Given the description of an element on the screen output the (x, y) to click on. 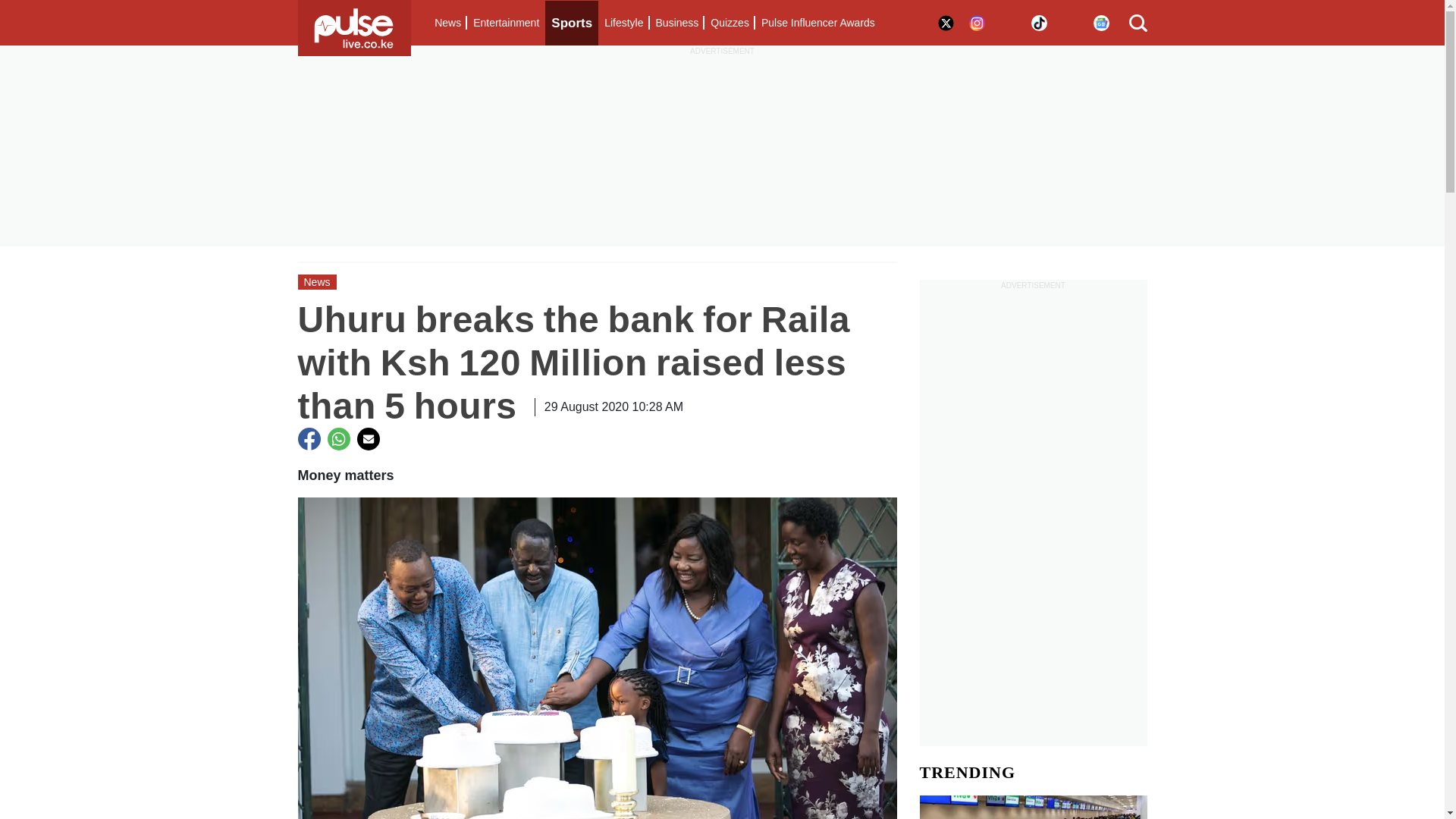
Lifestyle (623, 22)
News (447, 22)
Quizzes (729, 22)
Business (676, 22)
Pulse Influencer Awards (817, 22)
Sports (571, 22)
Entertainment (505, 22)
